Given the description of an element on the screen output the (x, y) to click on. 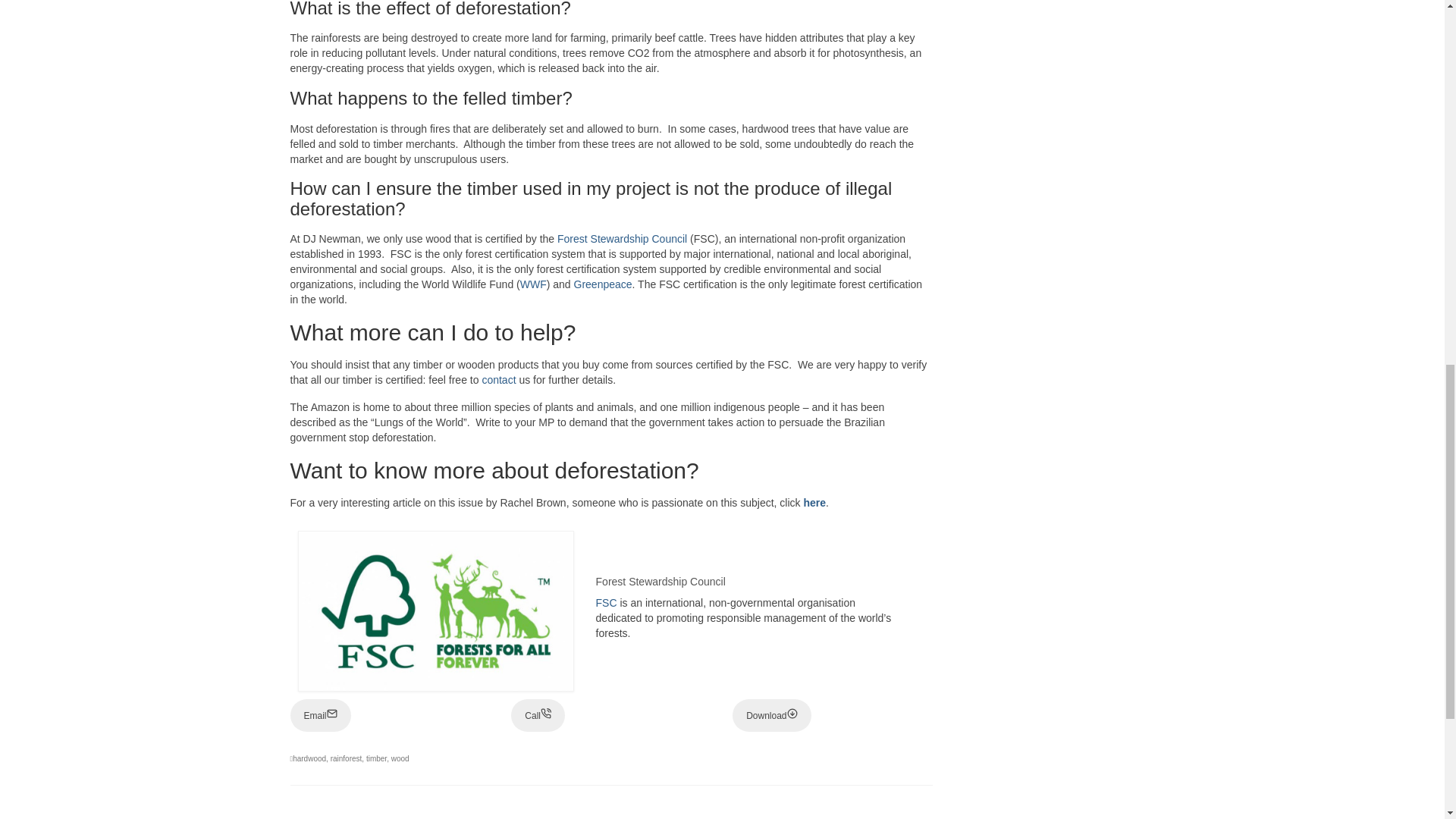
contact (498, 379)
here (814, 502)
Forest Stewardship Council (622, 238)
WWF (533, 284)
FSC (606, 603)
Greenpeace (602, 284)
